Given the description of an element on the screen output the (x, y) to click on. 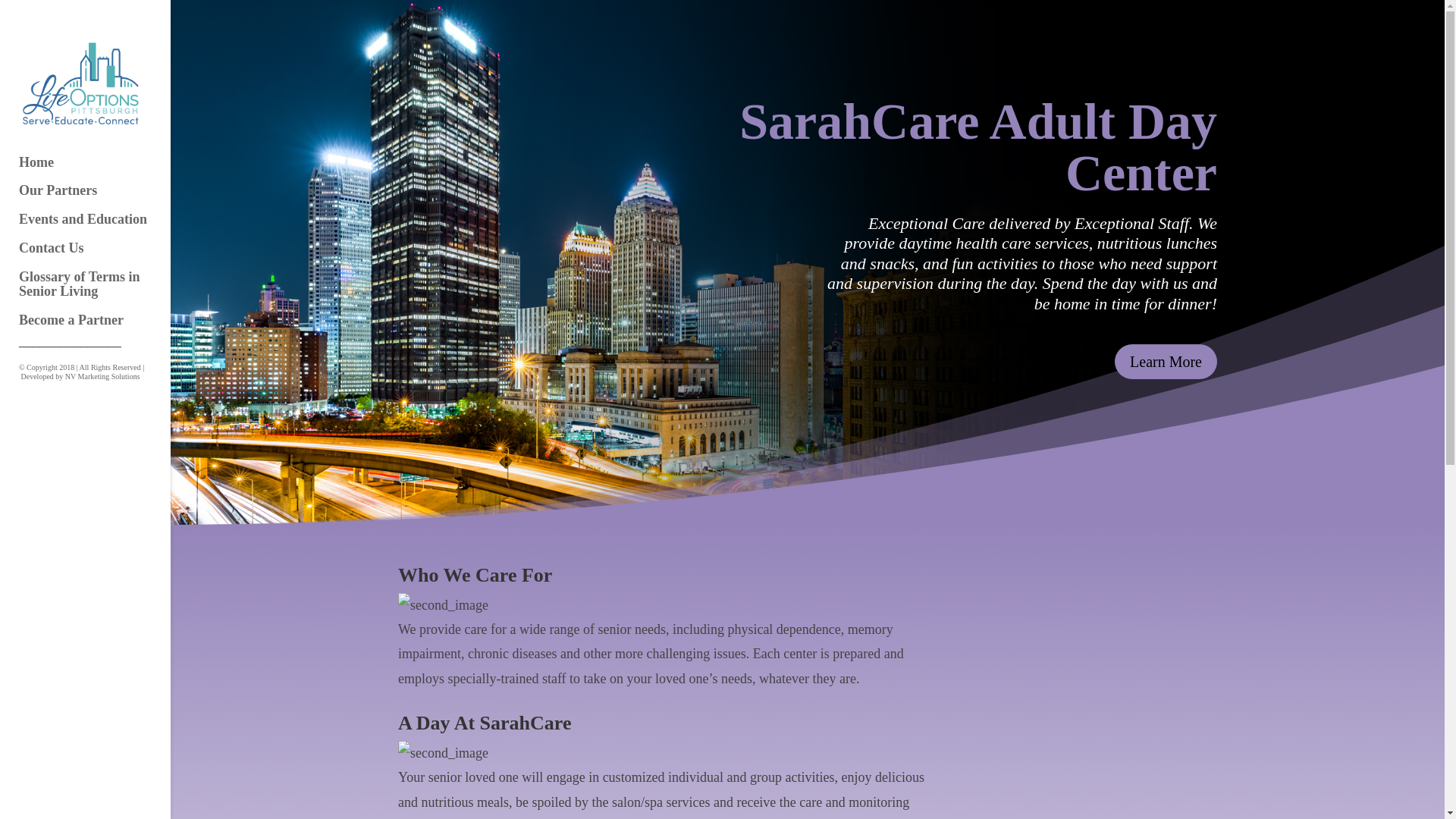
Become a Partner (100, 327)
Home (100, 169)
Learn More (1166, 361)
Contact Us (100, 255)
Our Partners (100, 197)
Events and Education (100, 226)
Glossary of Terms in Senior Living (100, 291)
